Given the description of an element on the screen output the (x, y) to click on. 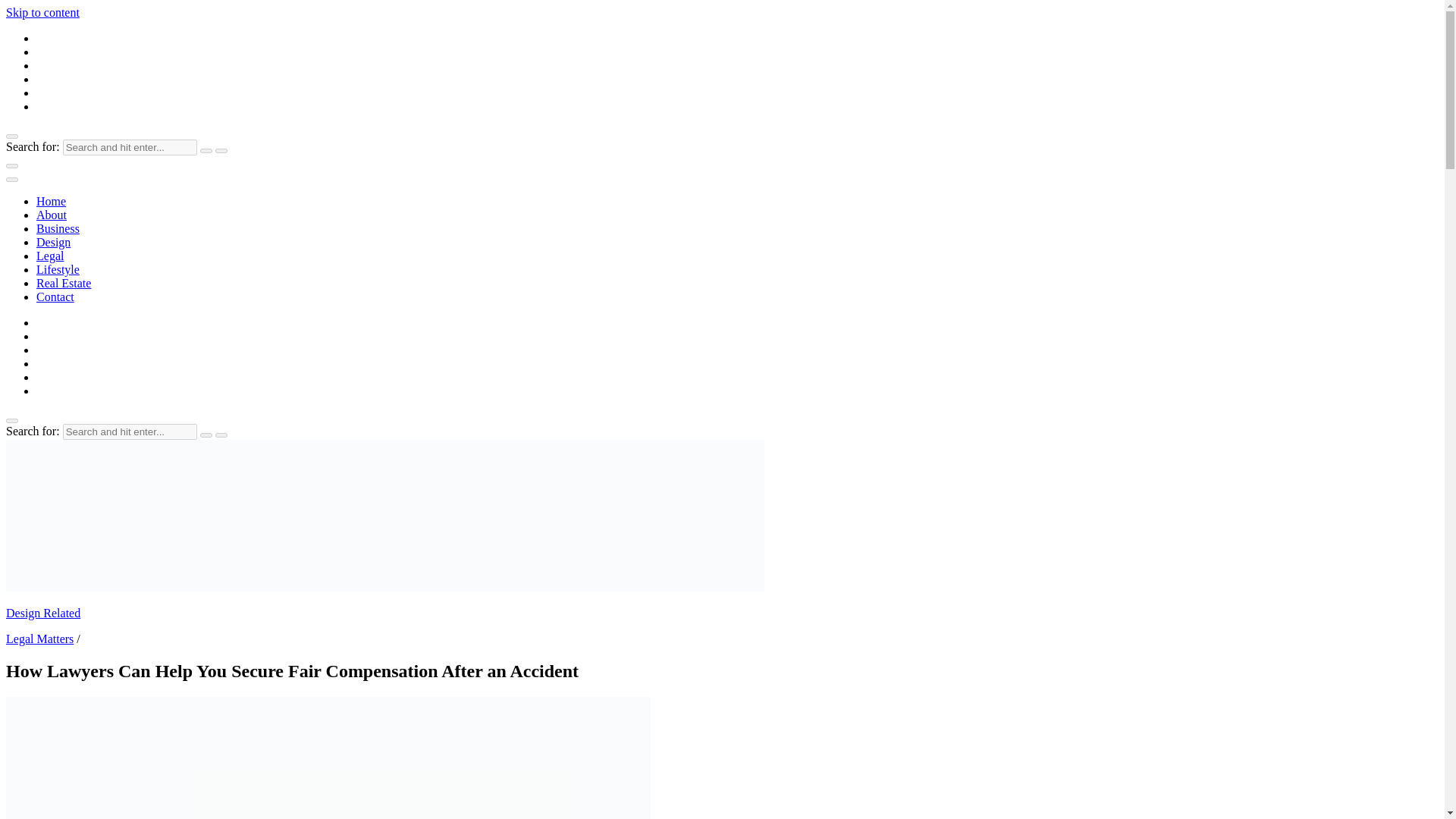
Lifestyle (58, 269)
Real Estate (63, 282)
Design (52, 241)
Legal (50, 255)
Design Related (42, 612)
About (51, 214)
Search (206, 435)
Business (58, 228)
Skip to content (42, 11)
Search (206, 150)
